Given the description of an element on the screen output the (x, y) to click on. 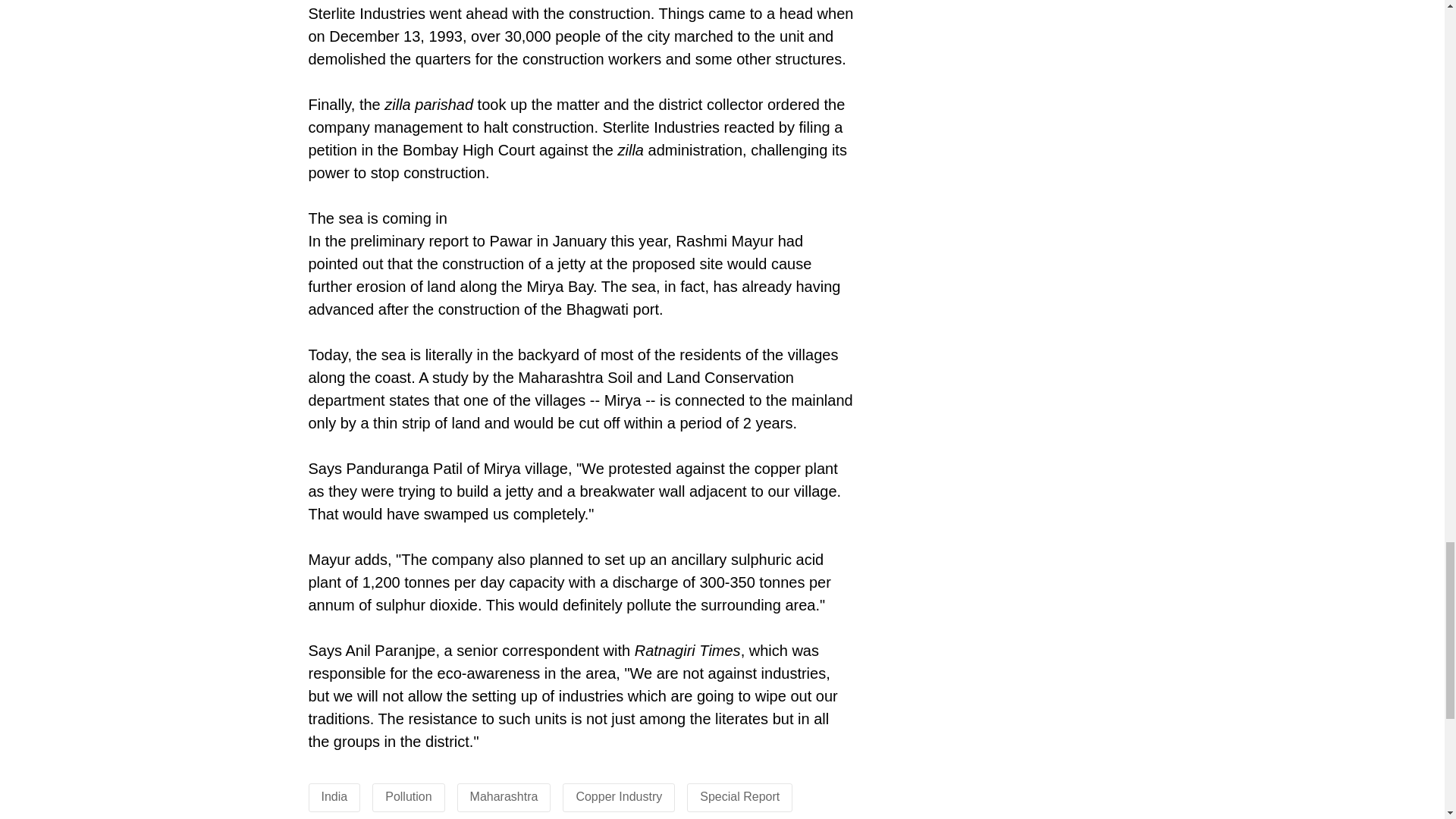
Pollution (407, 796)
India (334, 796)
